Given the description of an element on the screen output the (x, y) to click on. 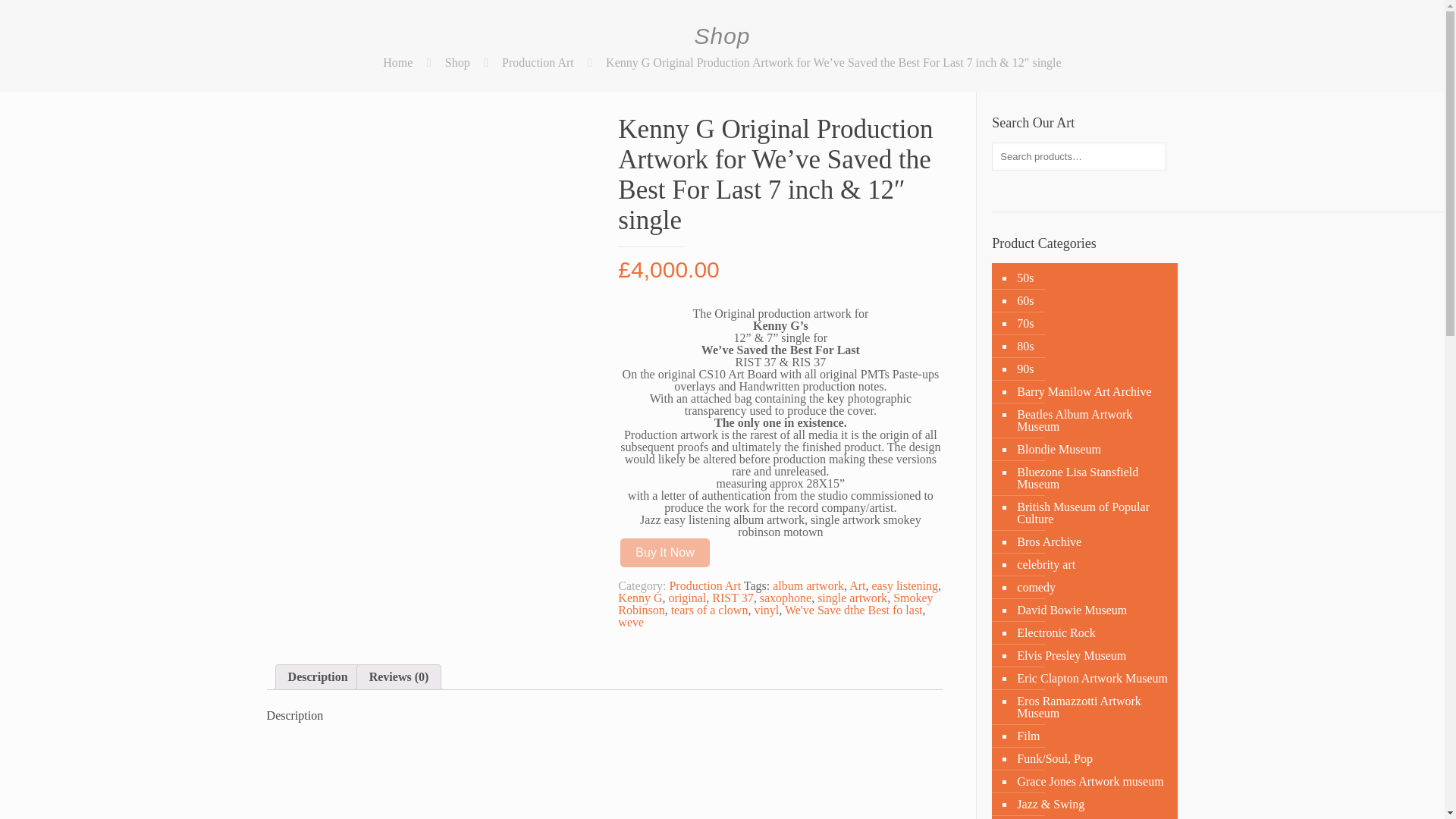
album artwork (808, 585)
Production Art (704, 585)
vinyl (766, 609)
easy listening (903, 585)
We've Save dthe Best fo last (853, 609)
saxophone (785, 597)
Buy It Now (664, 552)
RIST 37 (731, 597)
Home (397, 62)
tears of a clown (709, 609)
single artwork (851, 597)
Art (856, 585)
Production Art (537, 62)
Kenny G (639, 597)
original (687, 597)
